Given the description of an element on the screen output the (x, y) to click on. 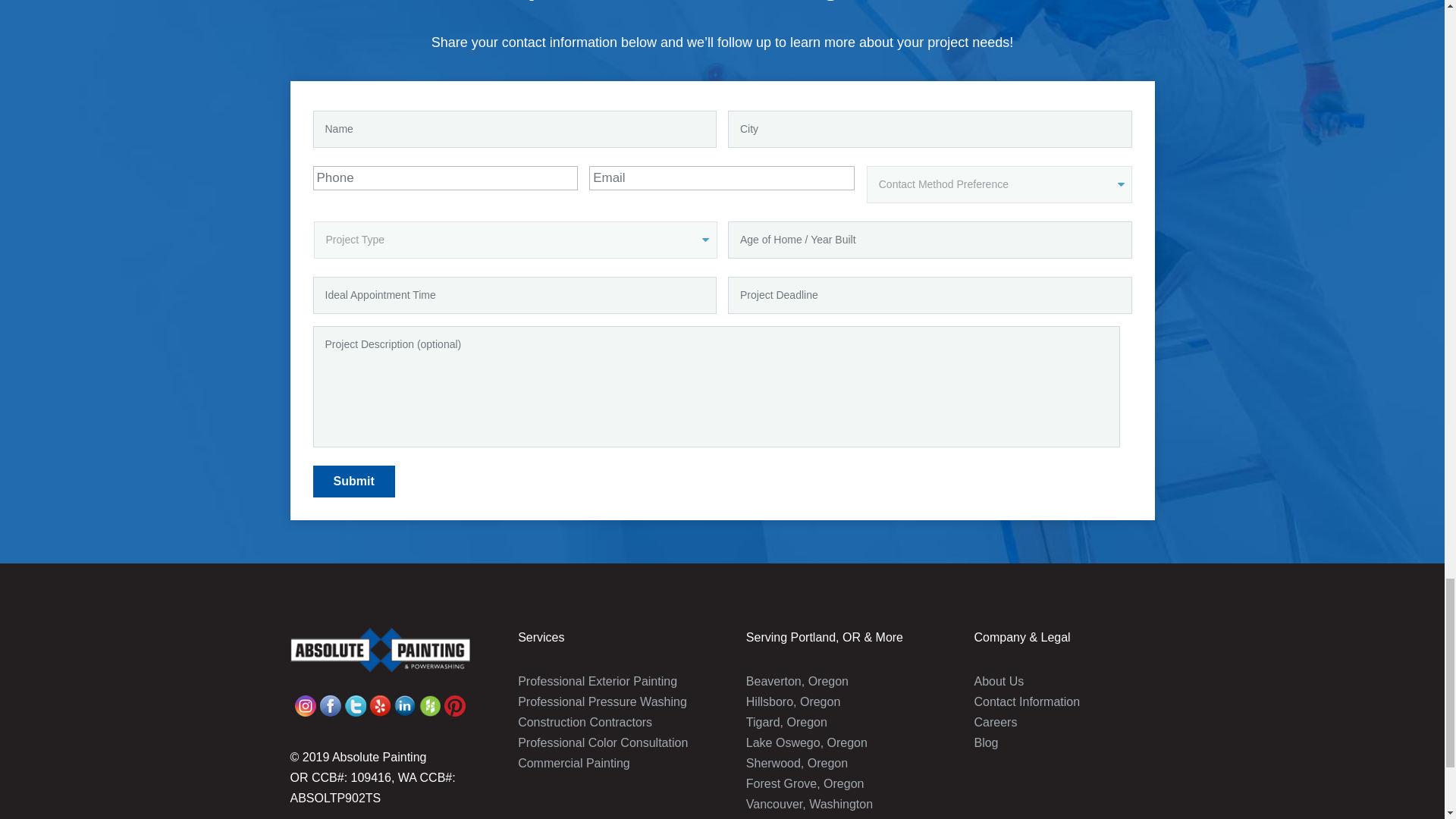
Facebook (305, 705)
Twitter (355, 705)
Professional Color Consultation (602, 742)
Pinterest (454, 705)
Professional Pressure Washing (602, 701)
Commercial Painting (574, 762)
Yelp (379, 705)
Facebook (330, 705)
Submit (353, 481)
Construction Contractors (585, 721)
